Given the description of an element on the screen output the (x, y) to click on. 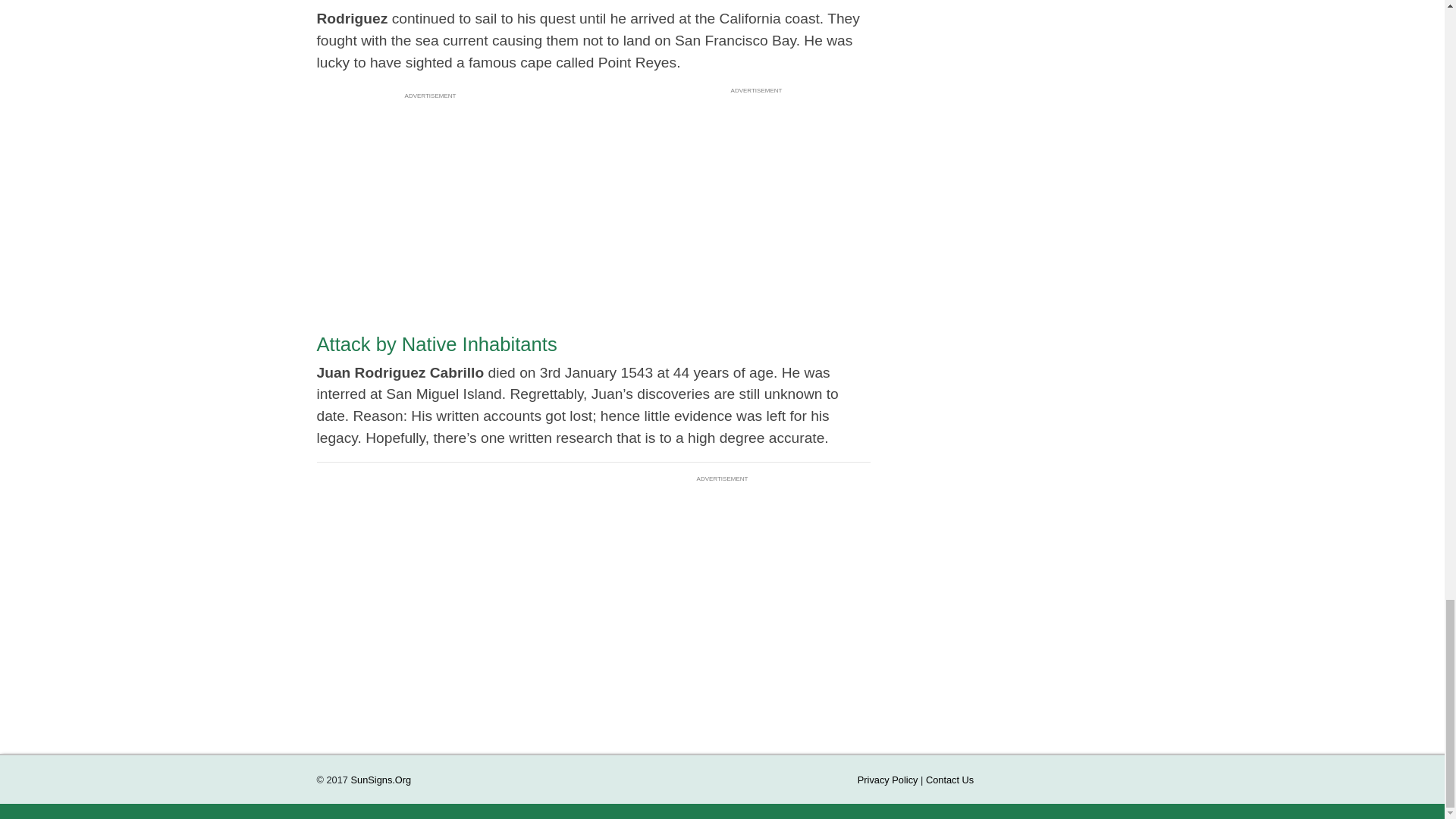
Privacy Policy (887, 779)
Contact Us (950, 779)
SunSigns.Org (381, 779)
